Given the description of an element on the screen output the (x, y) to click on. 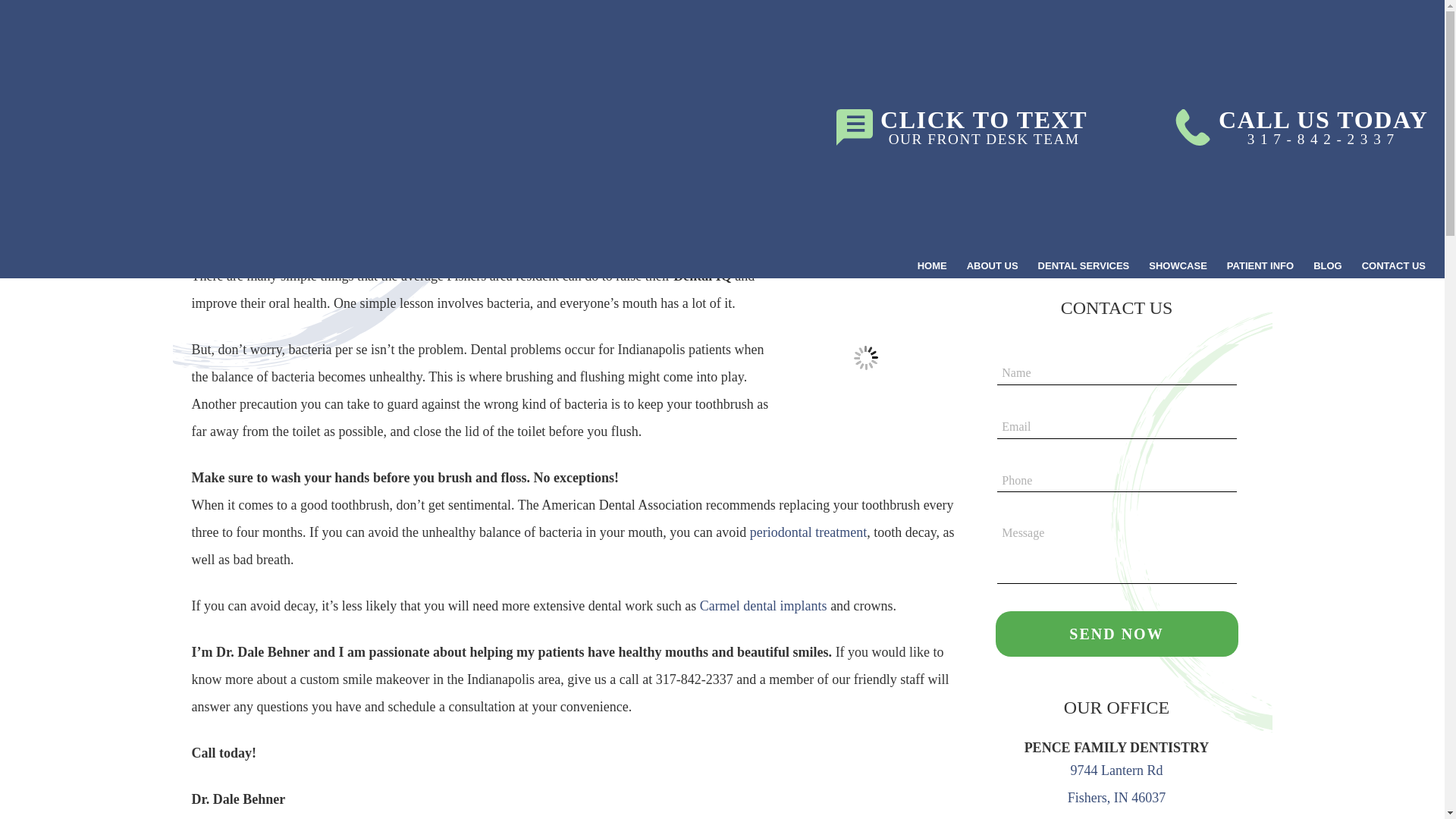
periodontal treatment Carmel (807, 531)
HOME (931, 265)
Send Now (961, 126)
Pence Family Dentistry (1115, 633)
Carmel dental implants (137, 133)
ABOUT US (763, 605)
Search (991, 265)
Raise Your Dental IQ With Your Carmel Holistic Dentist (1168, 257)
Search (865, 357)
